Given the description of an element on the screen output the (x, y) to click on. 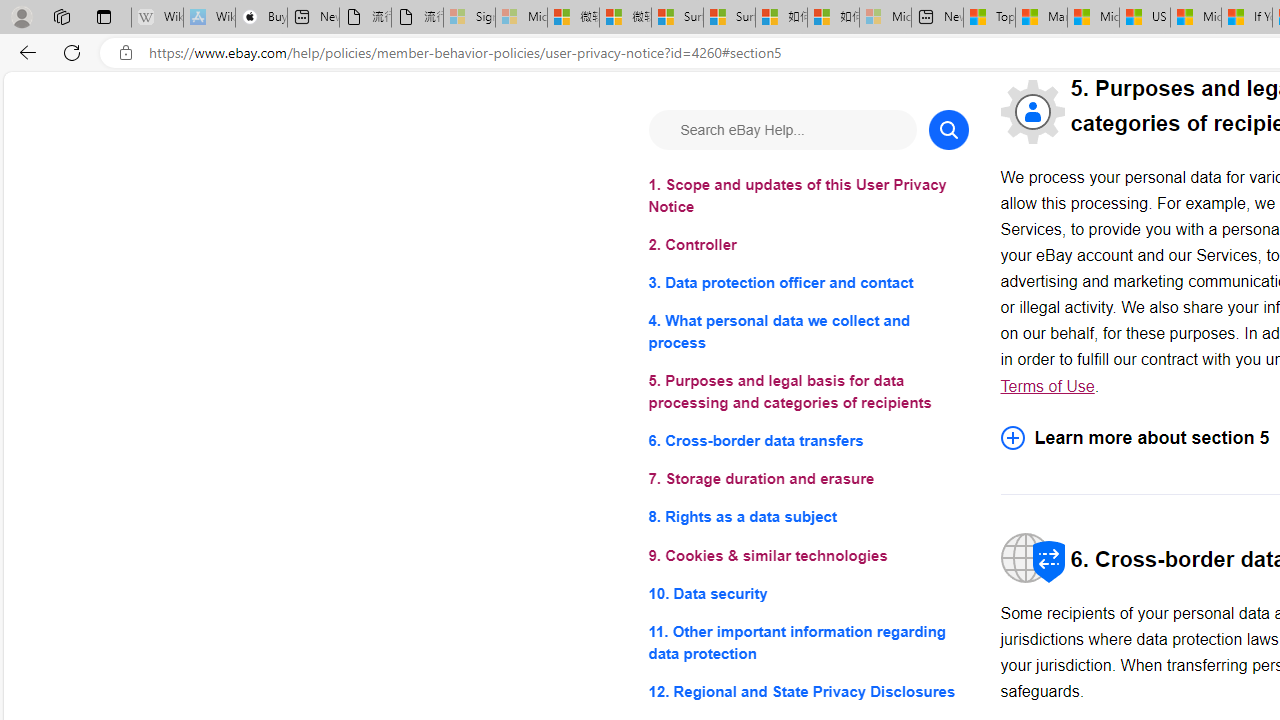
1. Scope and updates of this User Privacy Notice (807, 196)
8. Rights as a data subject (807, 517)
12. Regional and State Privacy Disclosures (807, 690)
6. Cross-border data transfers (807, 440)
7. Storage duration and erasure (807, 479)
4. What personal data we collect and process (807, 332)
1. Scope and updates of this User Privacy Notice (807, 196)
8. Rights as a data subject (807, 517)
6. Cross-border data transfers (807, 440)
10. Data security (807, 592)
